Given the description of an element on the screen output the (x, y) to click on. 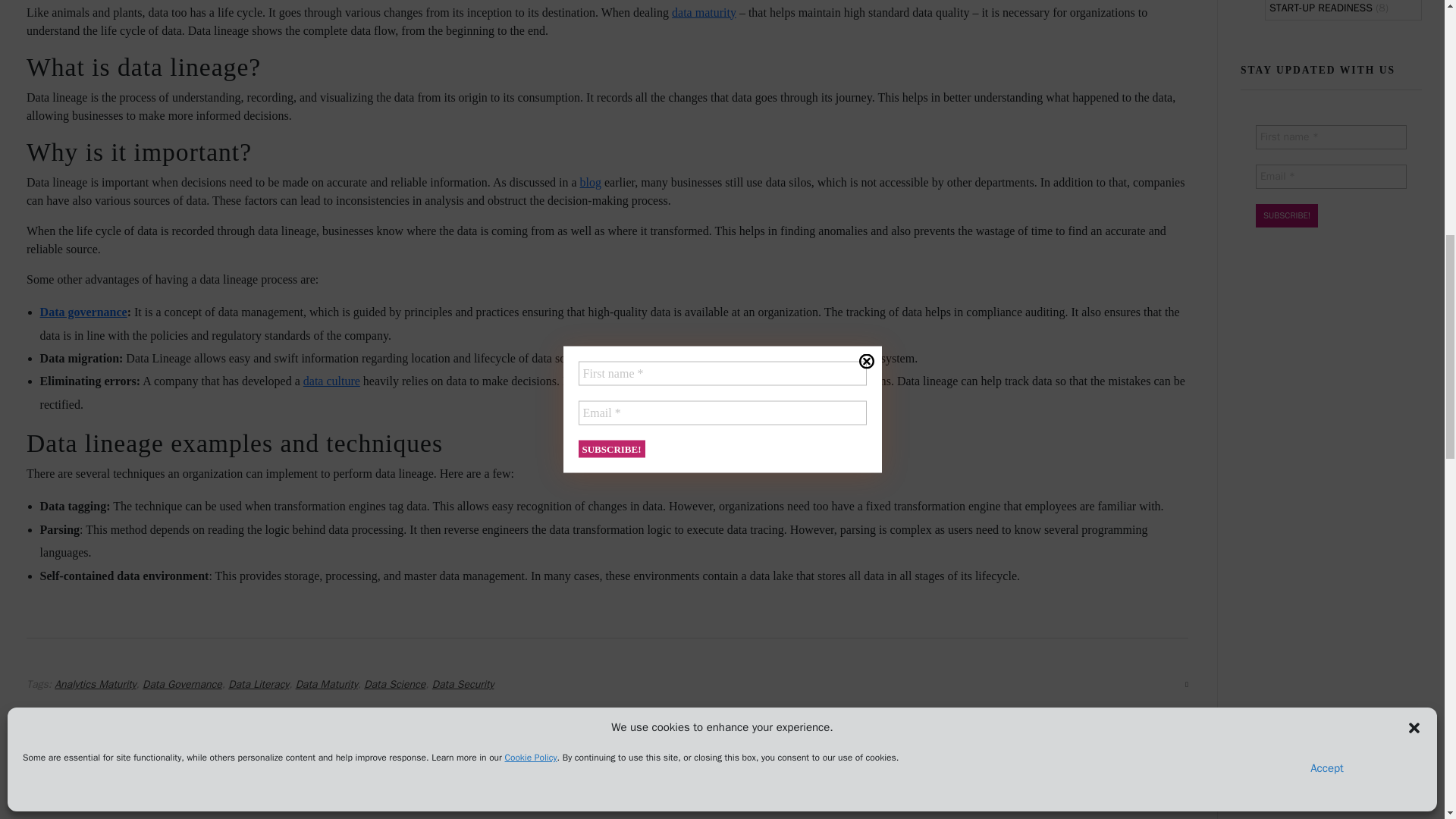
Subscribe! (1286, 215)
data maturity (703, 11)
Email (1330, 176)
First name (1330, 137)
Data governance (84, 311)
blog (590, 182)
data culture (330, 380)
